Given the description of an element on the screen output the (x, y) to click on. 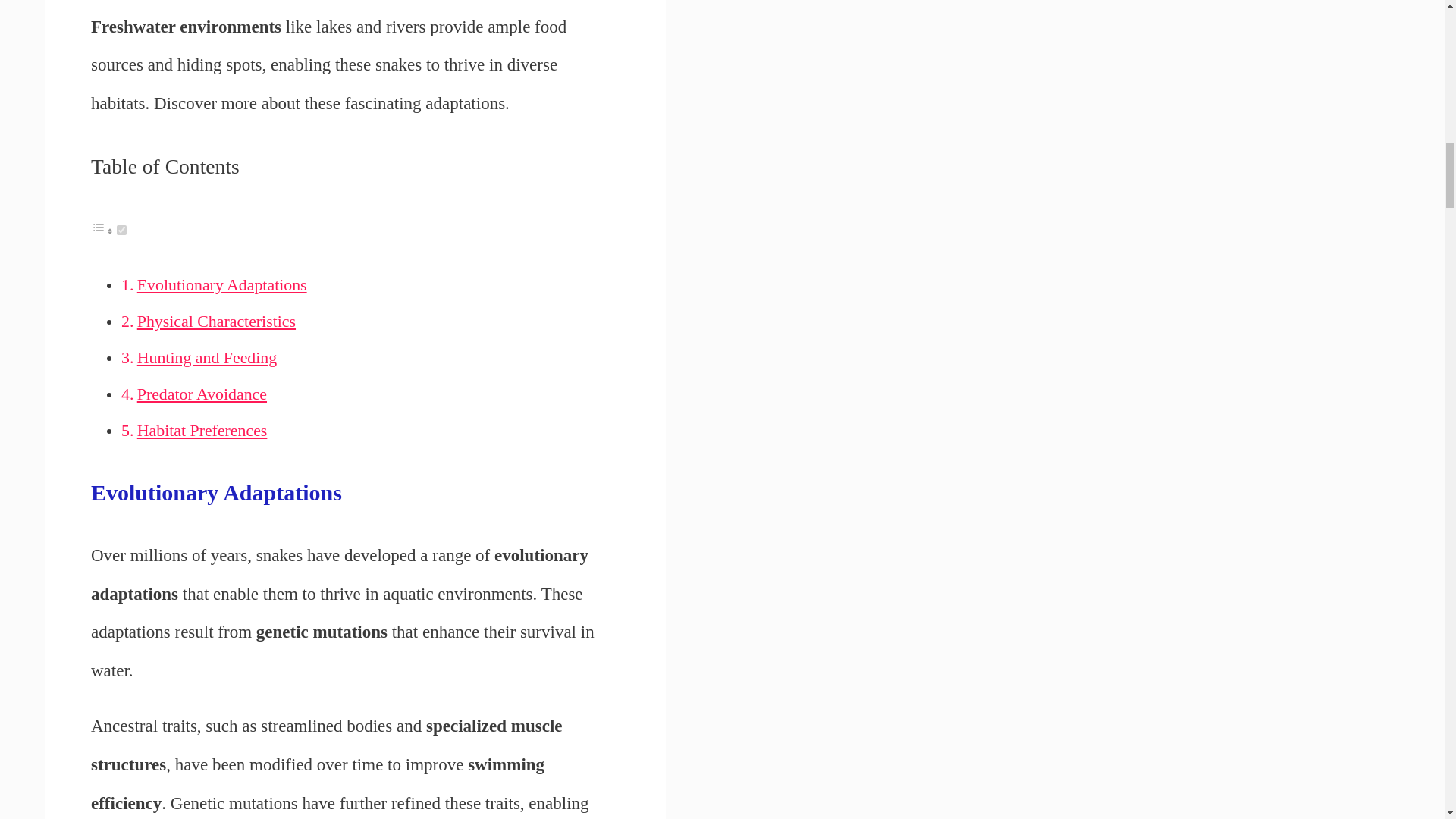
Hunting and Feeding (206, 357)
Evolutionary Adaptations (221, 285)
Habitat Preferences (201, 430)
Predator Avoidance (201, 393)
Hunting and Feeding (206, 357)
Predator Avoidance (201, 393)
on (121, 230)
Physical Characteristics (215, 321)
Habitat Preferences (201, 430)
Evolutionary Adaptations (221, 285)
